Given the description of an element on the screen output the (x, y) to click on. 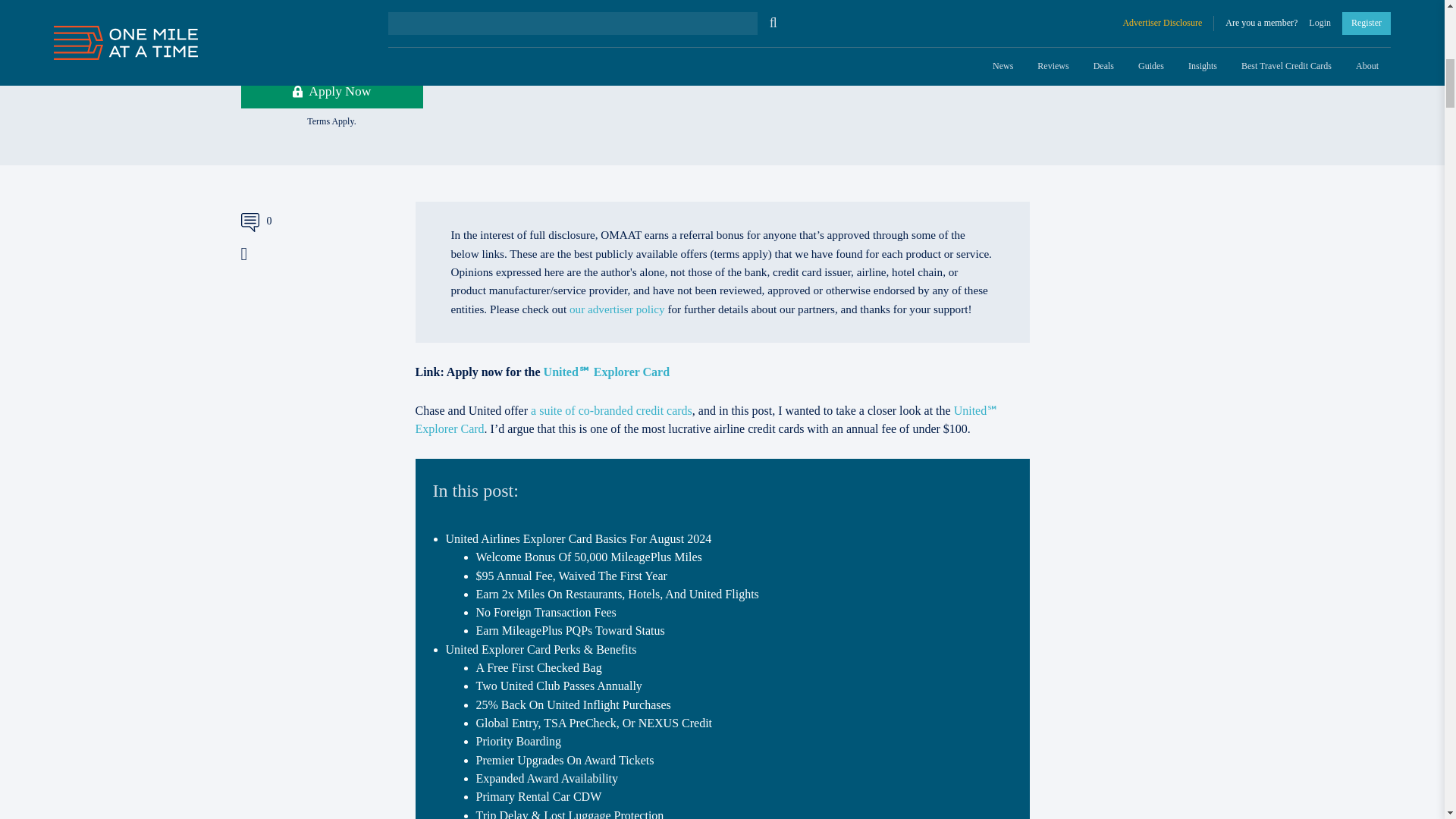
United Airlines Explorer Card Basics For August 2024 (578, 538)
Apply Now (332, 90)
our advertiser policy (617, 308)
Apply Now (332, 90)
No Foreign Transaction Fees (545, 612)
Welcome Bonus Of 50,000 MileagePlus Miles (588, 556)
Earn MileagePlus PQPs Toward Status (570, 630)
A Free First Checked Bag (539, 667)
Two United Club Passes Annually (559, 685)
Earn 2x Miles On Restaurants, Hotels, And United Flights (617, 594)
